Given the description of an element on the screen output the (x, y) to click on. 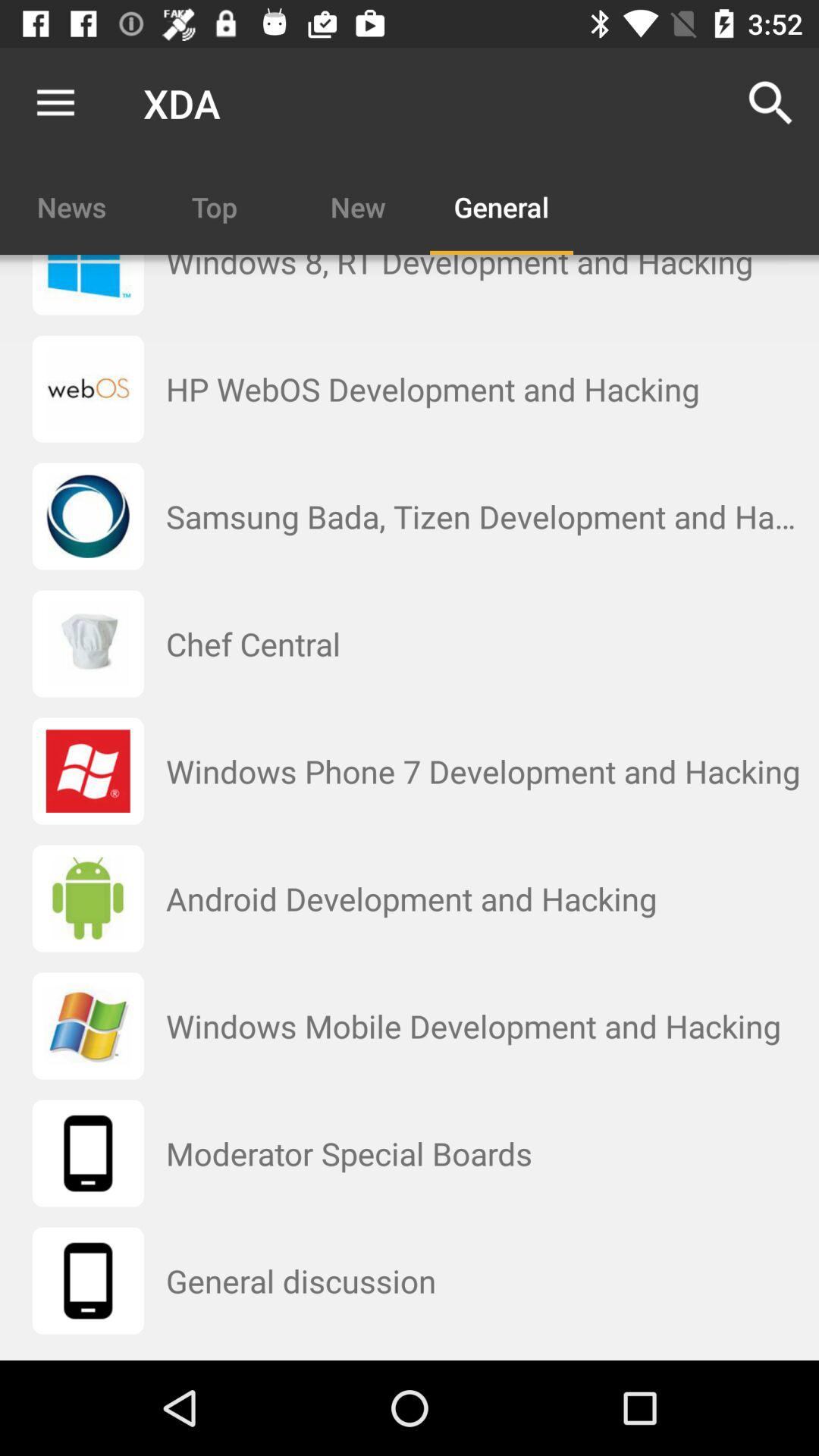
turn off the item to the left of the xda icon (55, 103)
